Given the description of an element on the screen output the (x, y) to click on. 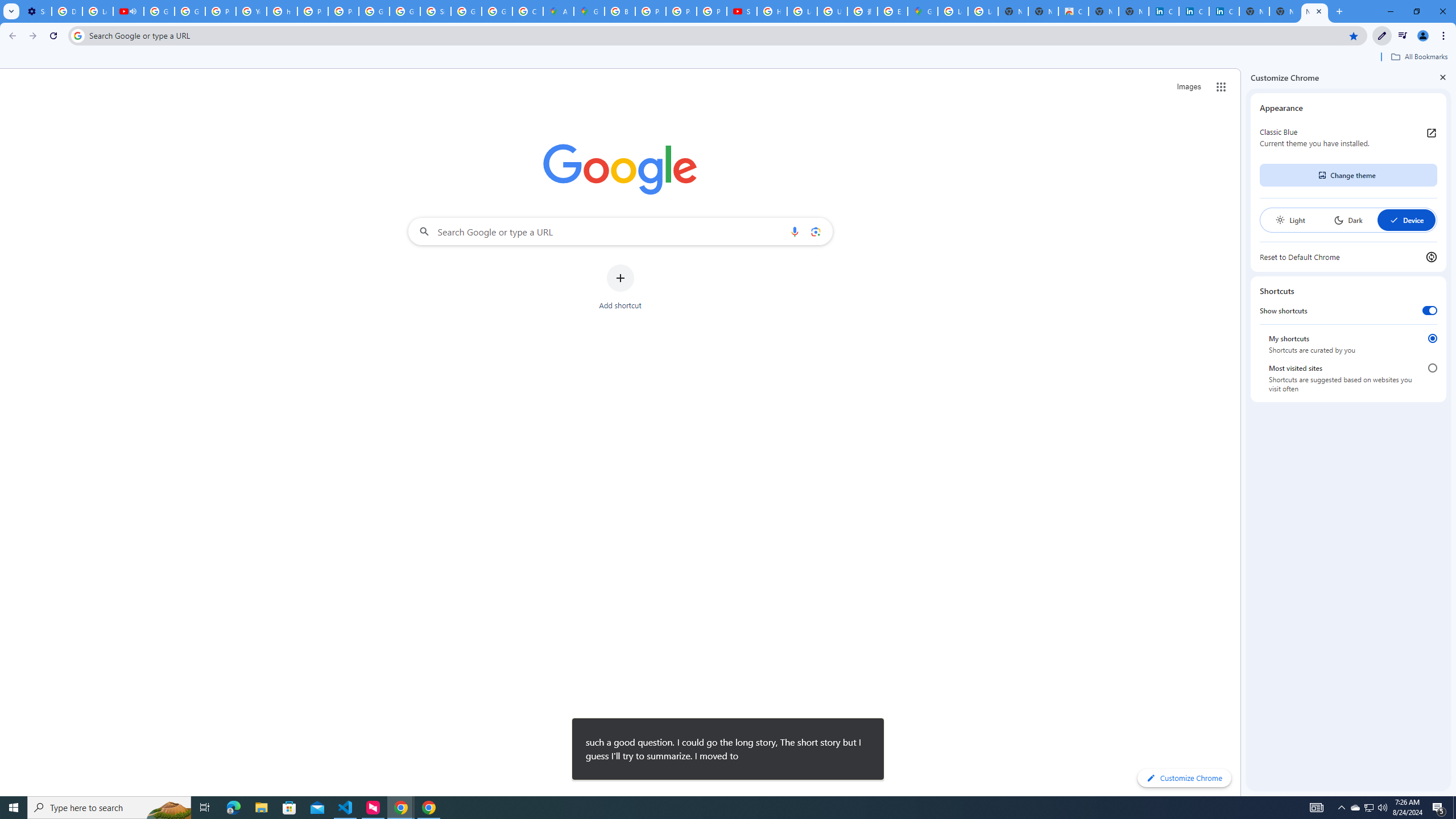
Explore new street-level details - Google Maps Help (892, 11)
Mute tab (133, 10)
Google Maps (589, 11)
Search Google or type a URL (619, 230)
Device (1406, 219)
How Chrome protects your passwords - Google Chrome Help (771, 11)
Privacy Help Center - Policies Help (312, 11)
Search for Images  (1188, 87)
